Given the description of an element on the screen output the (x, y) to click on. 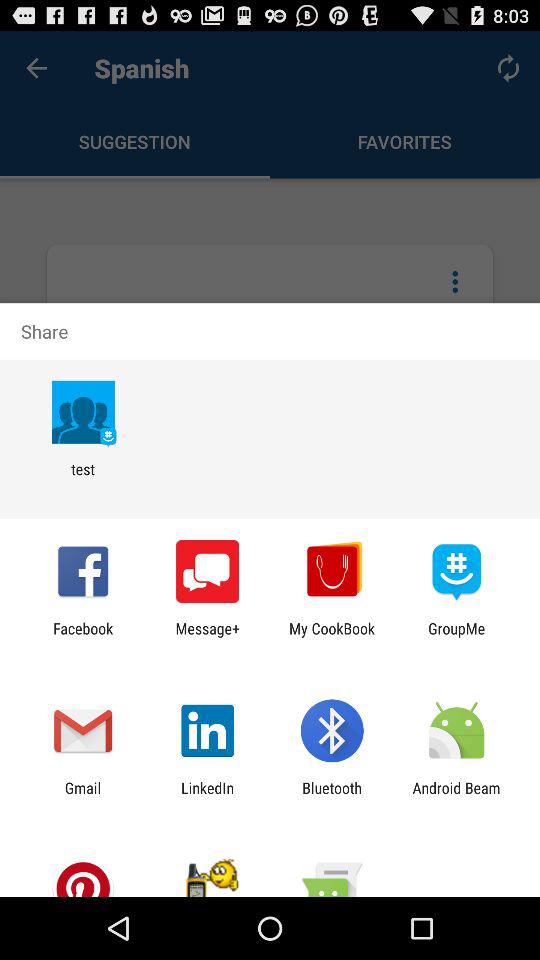
click the app next to facebook app (207, 637)
